Given the description of an element on the screen output the (x, y) to click on. 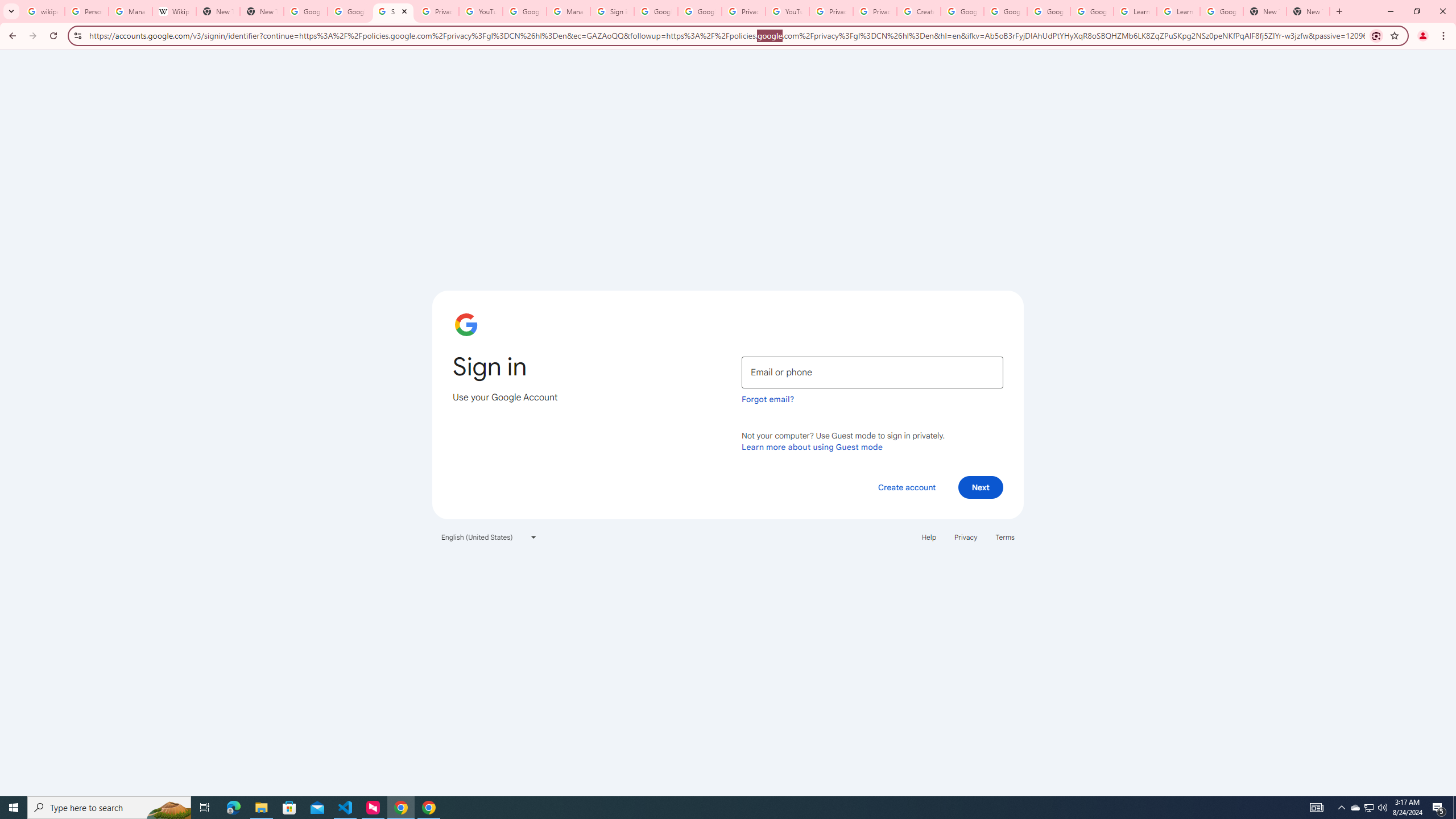
Google Account Help (1005, 11)
Sign in - Google Accounts (612, 11)
New Tab (261, 11)
Create account (905, 486)
